Given the description of an element on the screen output the (x, y) to click on. 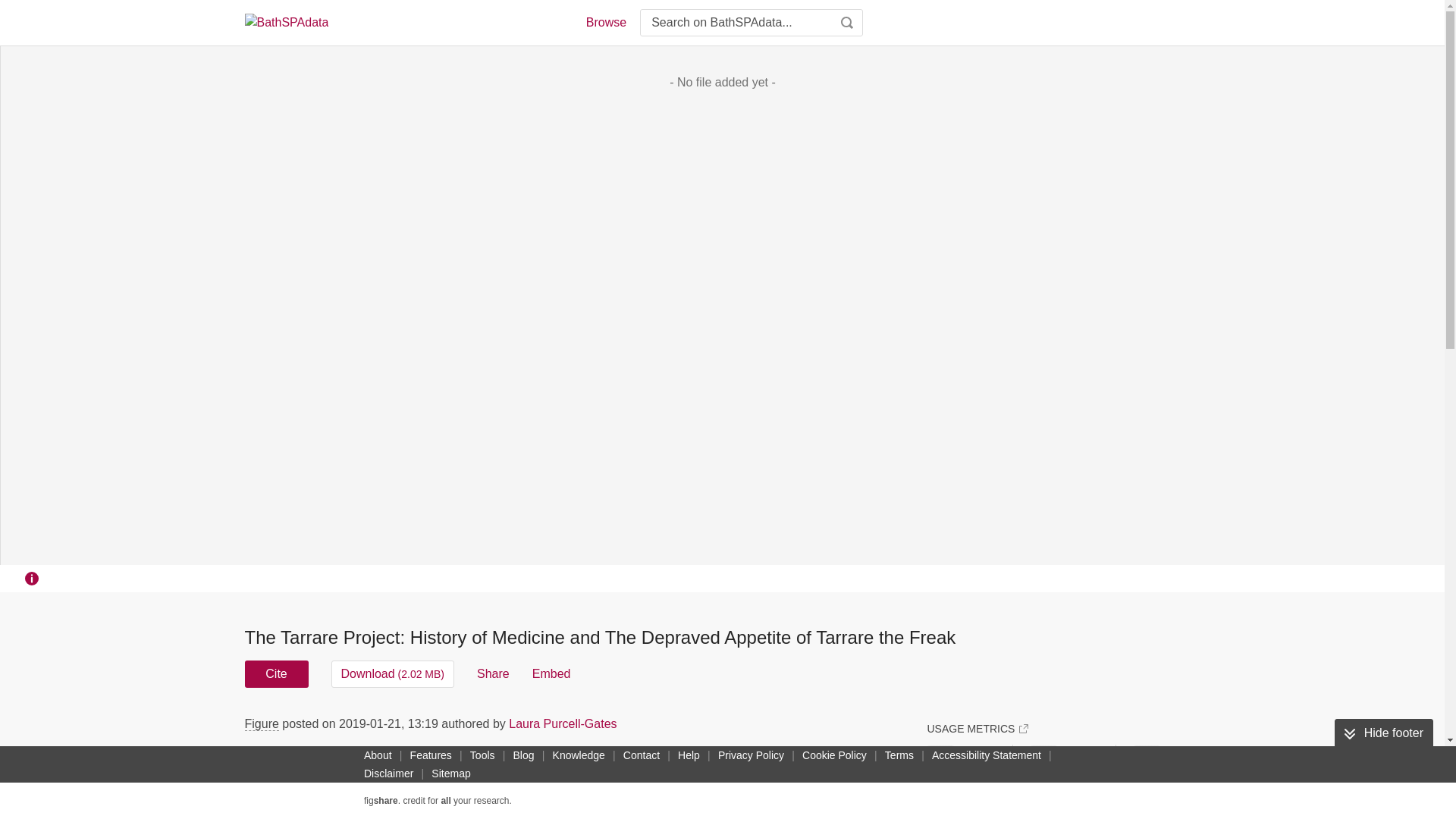
Embed (551, 673)
USAGE METRICS (976, 728)
Browse (605, 22)
Blog (523, 755)
Tools (482, 755)
Features (431, 755)
Share (493, 673)
Cite (275, 673)
Hide footer (1383, 733)
Laura Purcell-Gates (561, 723)
